Given the description of an element on the screen output the (x, y) to click on. 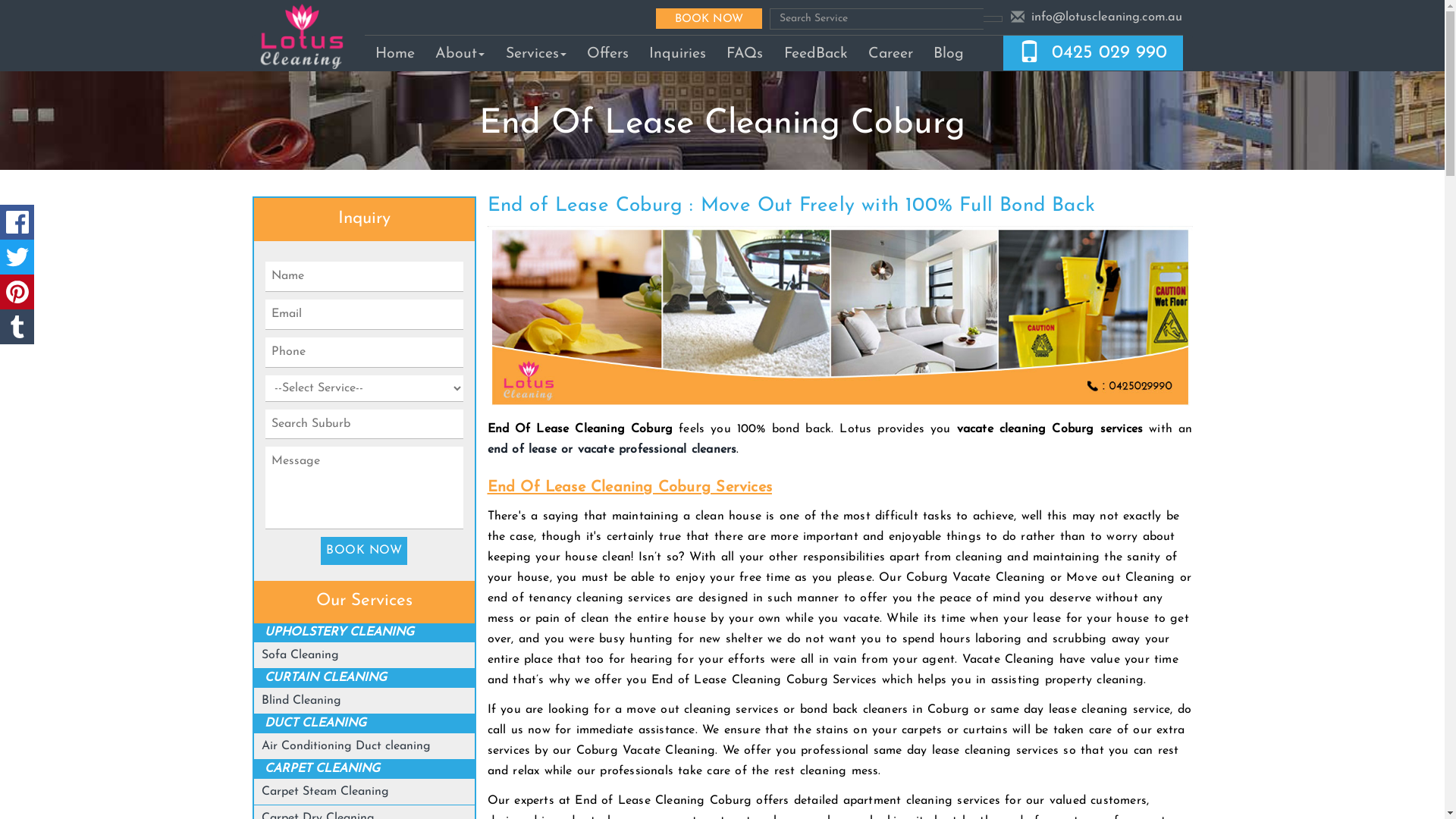
CURTAIN CLEANING Element type: text (325, 677)
BOOK NOW Element type: text (363, 550)
share with: pinterest Element type: hover (17, 291)
Sofa Cleaning Element type: text (299, 655)
Air Conditioning Duct cleaning Element type: text (345, 746)
0425 029 990 Element type: text (1109, 52)
Career Element type: text (889, 53)
Blind Cleaning Element type: text (301, 700)
end of lease or vacate professional cleaners Element type: text (611, 449)
share with: tumblr Element type: hover (17, 326)
Blog Element type: text (948, 53)
share with: twitter Element type: hover (17, 256)
UPHOLSTERY CLEANING Element type: text (338, 632)
Carpet Steam Cleaning Element type: text (324, 791)
About Element type: text (460, 53)
CARPET CLEANING Element type: text (321, 768)
BOOK NOW Element type: text (708, 17)
DUCT CLEANING Element type: text (315, 723)
Inquiries Element type: text (676, 53)
share with: facebook Element type: hover (17, 221)
Home Element type: text (394, 53)
info@lotuscleaning.com.au Element type: text (1106, 17)
Offers Element type: text (607, 53)
Services Element type: text (535, 53)
FeedBack Element type: text (815, 53)
FAQs Element type: text (744, 53)
